Given the description of an element on the screen output the (x, y) to click on. 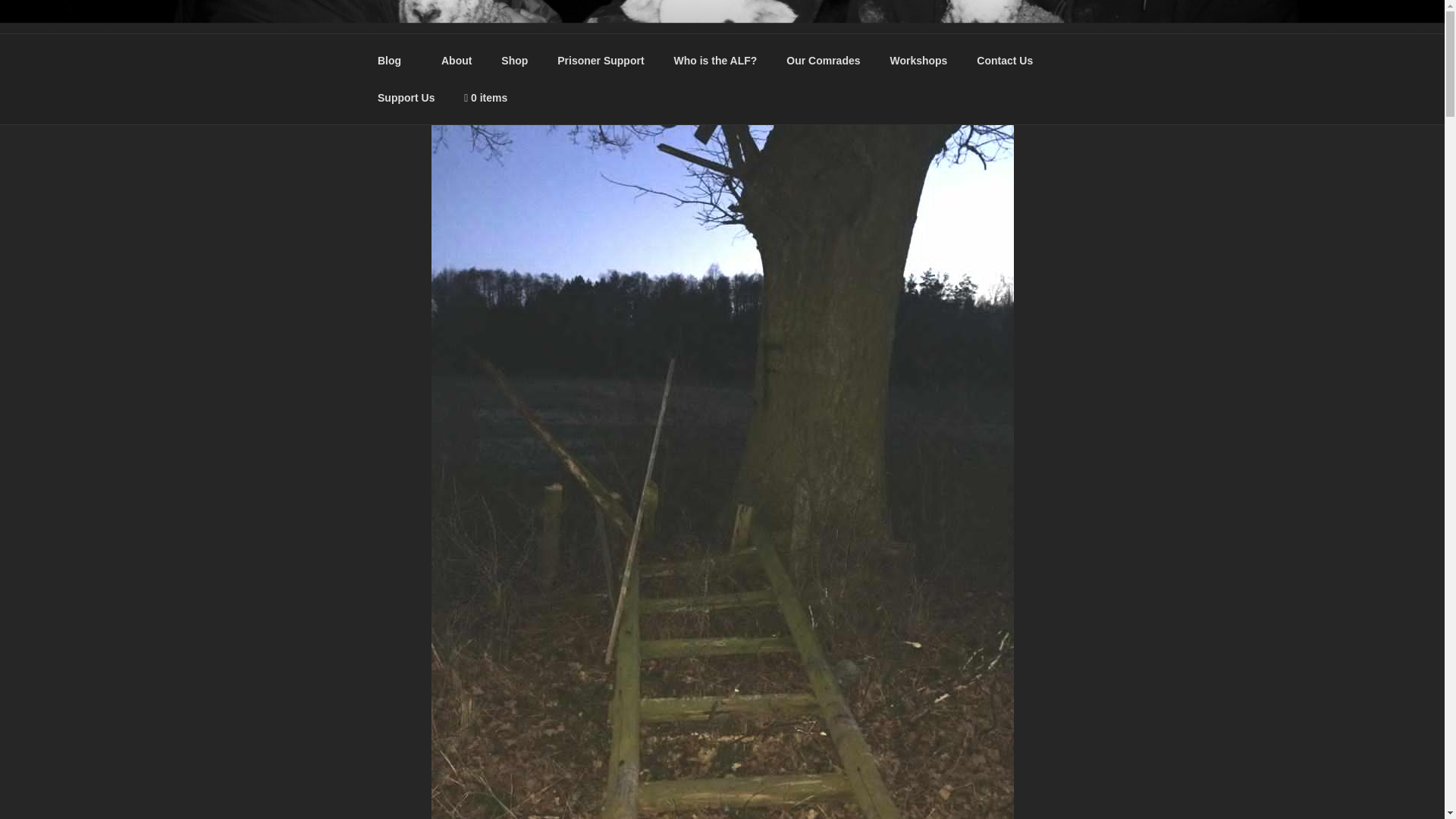
Blog (394, 60)
Who is the ALF? (715, 60)
Our Comrades (823, 60)
Contact Us (1004, 60)
Start shopping (486, 97)
About (456, 60)
Support Us (405, 97)
0 items (486, 97)
Workshops (918, 60)
Shop (514, 60)
Prisoner Support (601, 60)
UNOFFENSIVE ANIMAL (551, 52)
